Given the description of an element on the screen output the (x, y) to click on. 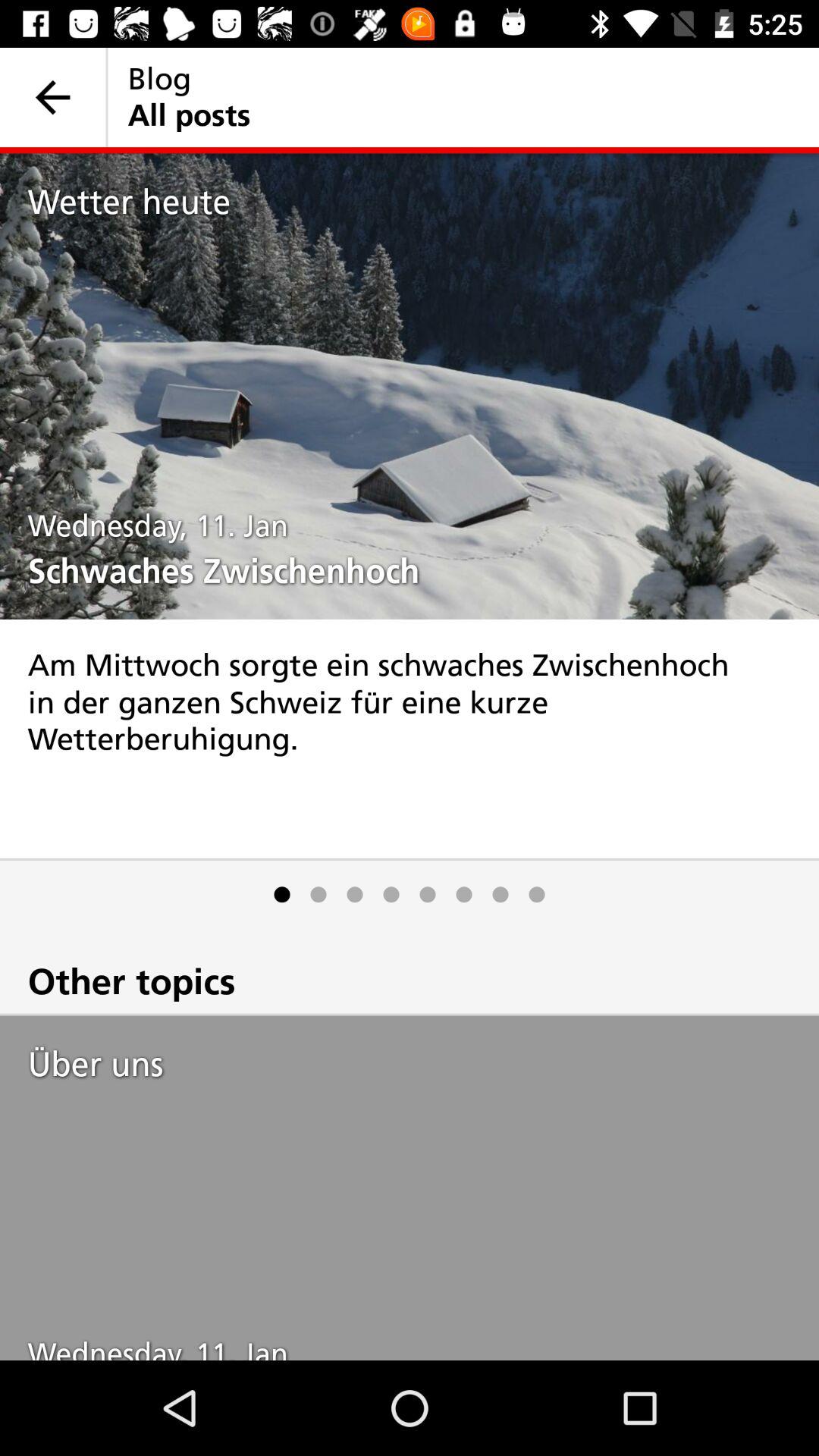
select the icon below am mittwoch sorgte (427, 894)
